Given the description of an element on the screen output the (x, y) to click on. 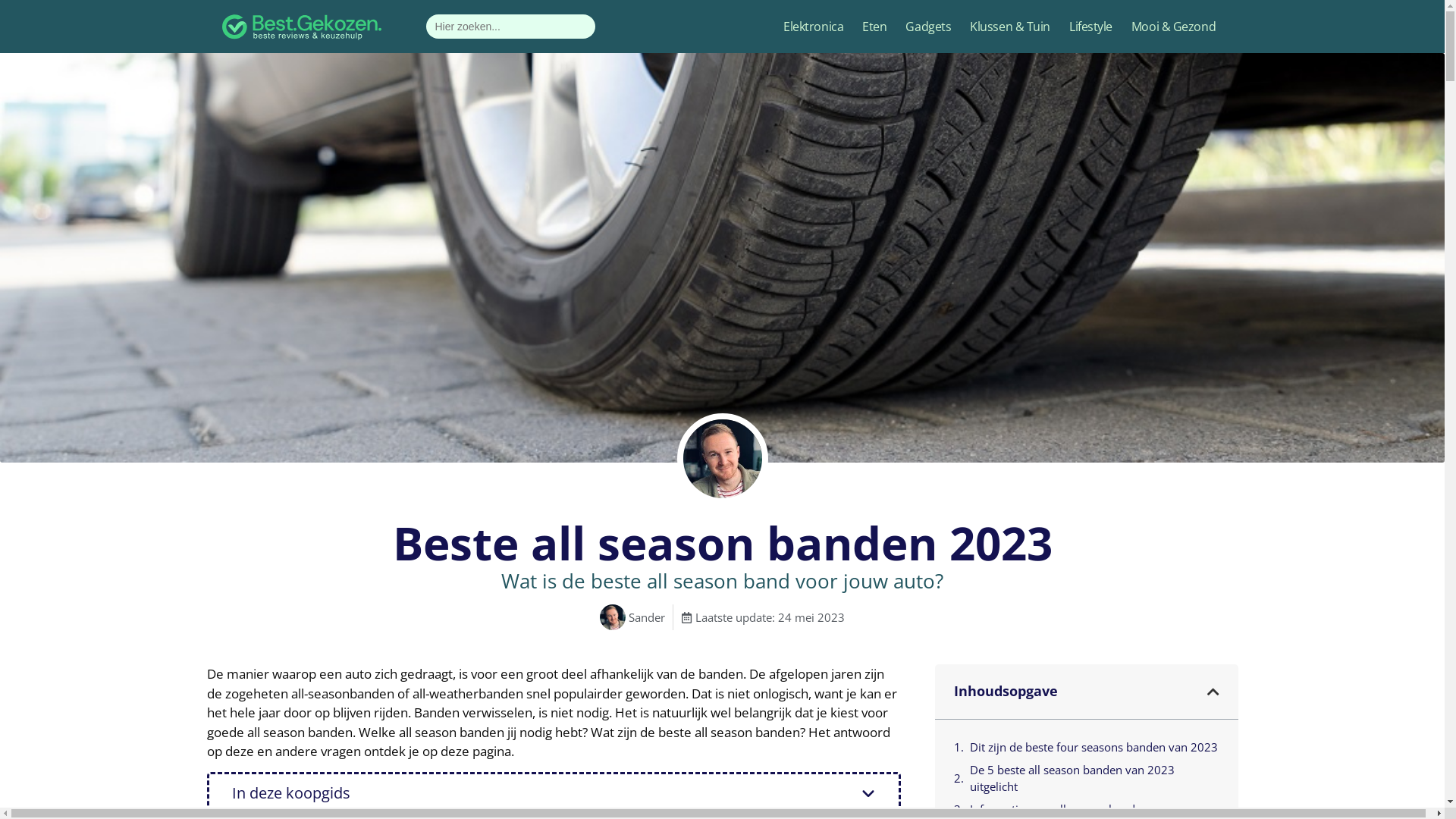
Elektronica Element type: text (813, 26)
Dit zijn de beste four seasons banden van 2023 Element type: text (1093, 747)
Sander Element type: text (632, 617)
Mooi & Gezond Element type: text (1173, 26)
Lifestyle Element type: text (1090, 26)
Eten Element type: text (874, 26)
Informatie over all season banden Element type: text (1058, 809)
De 5 beste all season banden van 2023 uitgelicht Element type: text (1093, 778)
Gadgets Element type: text (927, 26)
Klussen & Tuin Element type: text (1010, 26)
